Given the description of an element on the screen output the (x, y) to click on. 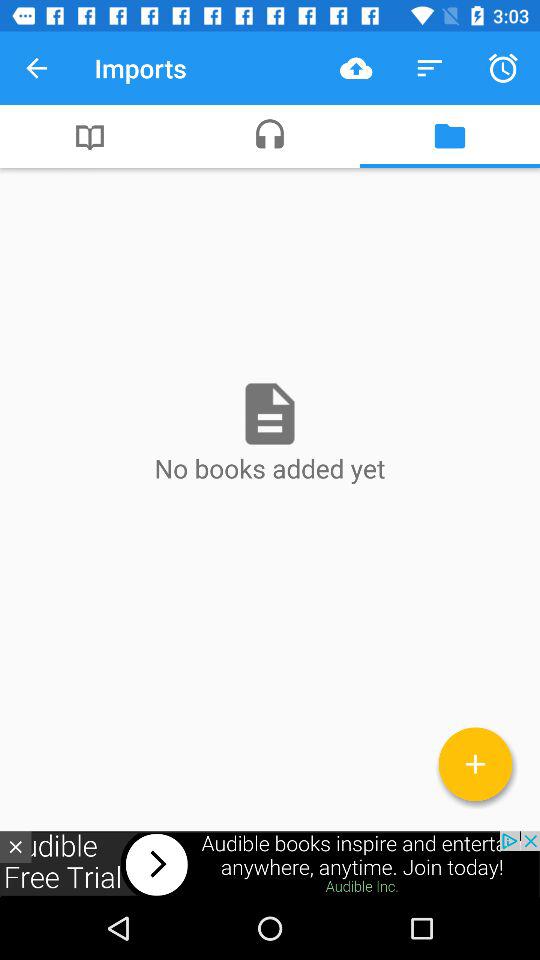
visit advertiser (270, 864)
